Given the description of an element on the screen output the (x, y) to click on. 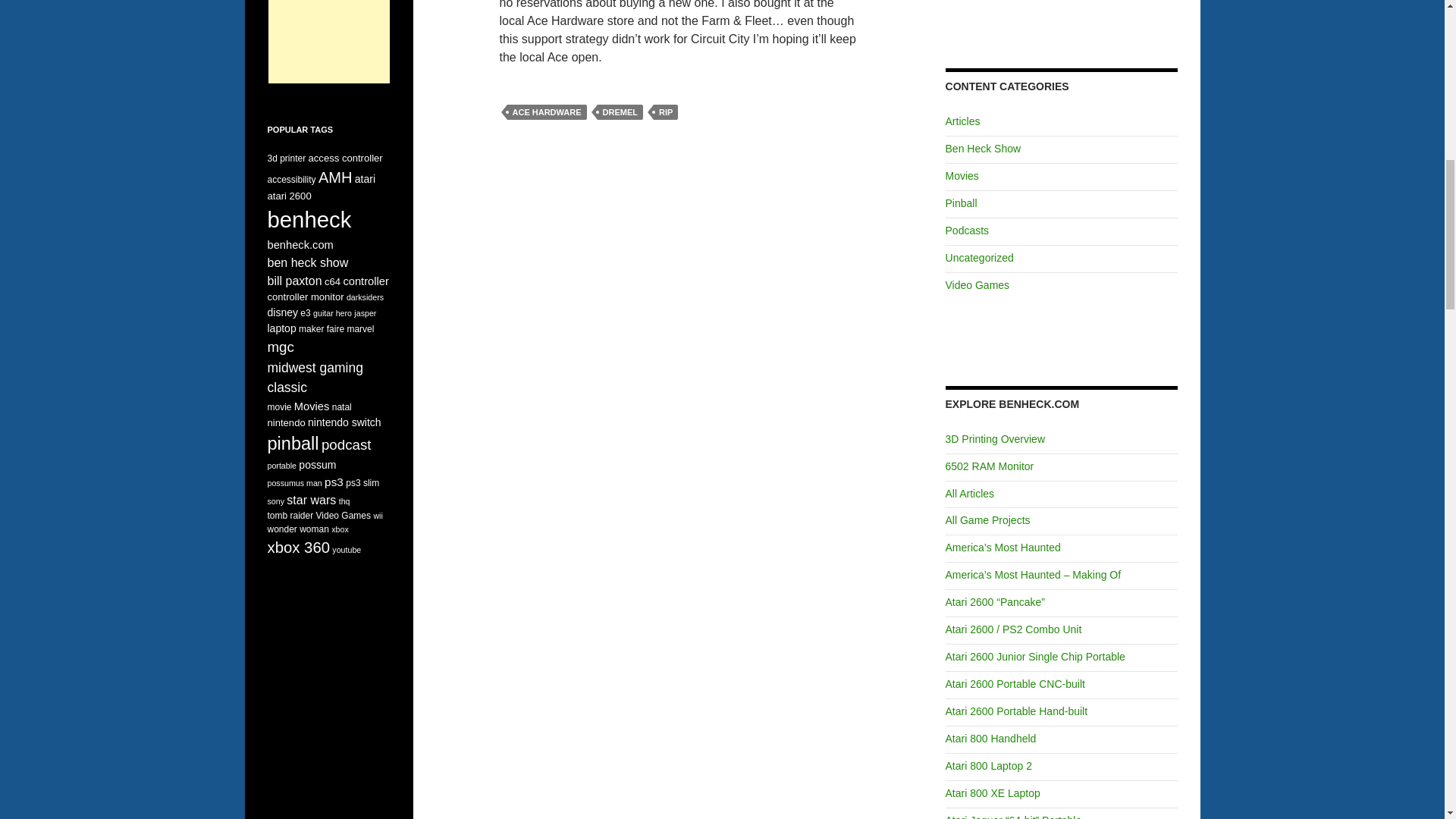
ACE HARDWARE (546, 111)
Advertisement (328, 41)
RIP (665, 111)
DREMEL (619, 111)
